Given the description of an element on the screen output the (x, y) to click on. 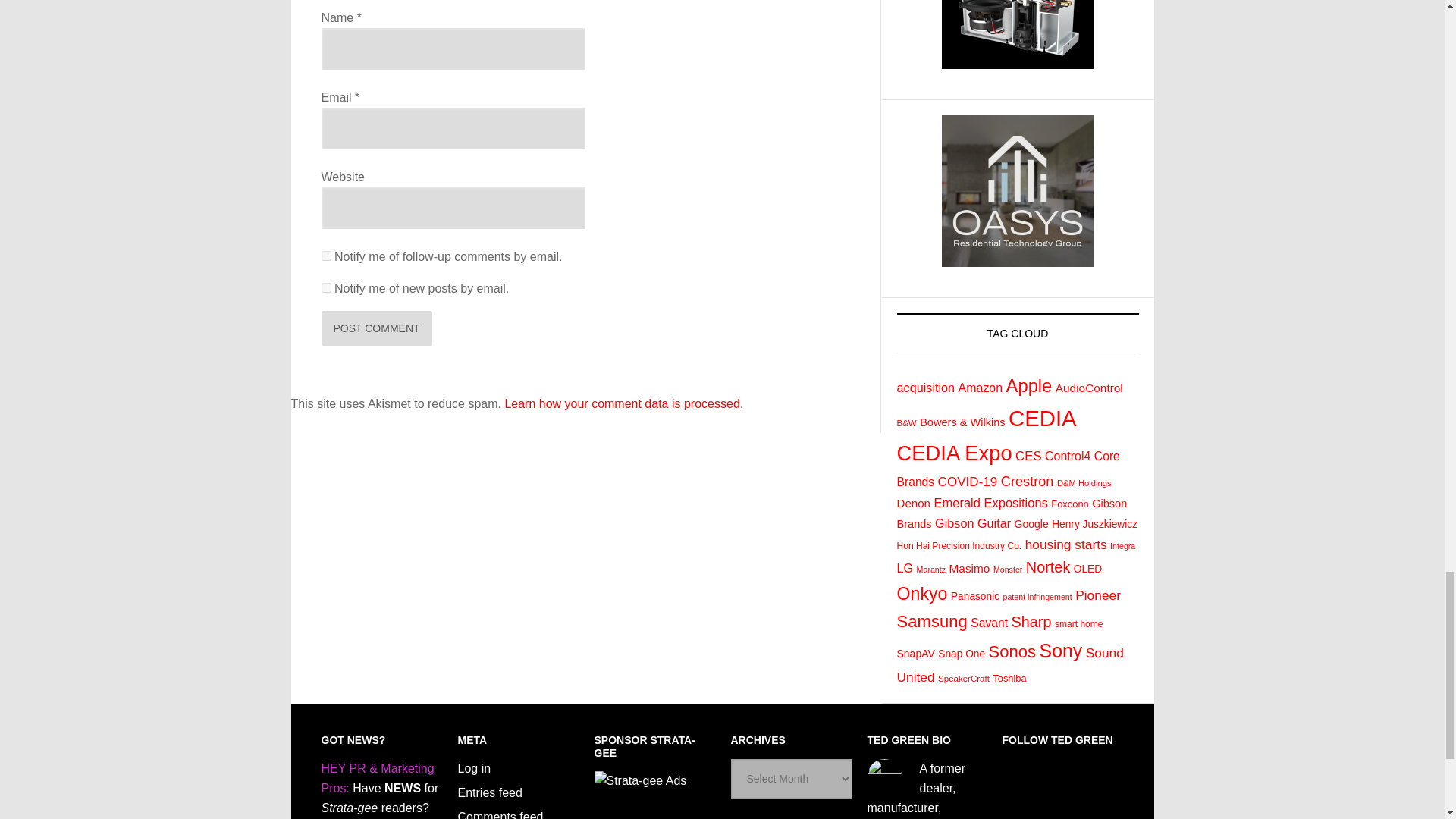
subscribe (326, 255)
subscribe (326, 287)
Post Comment (376, 328)
